Given the description of an element on the screen output the (x, y) to click on. 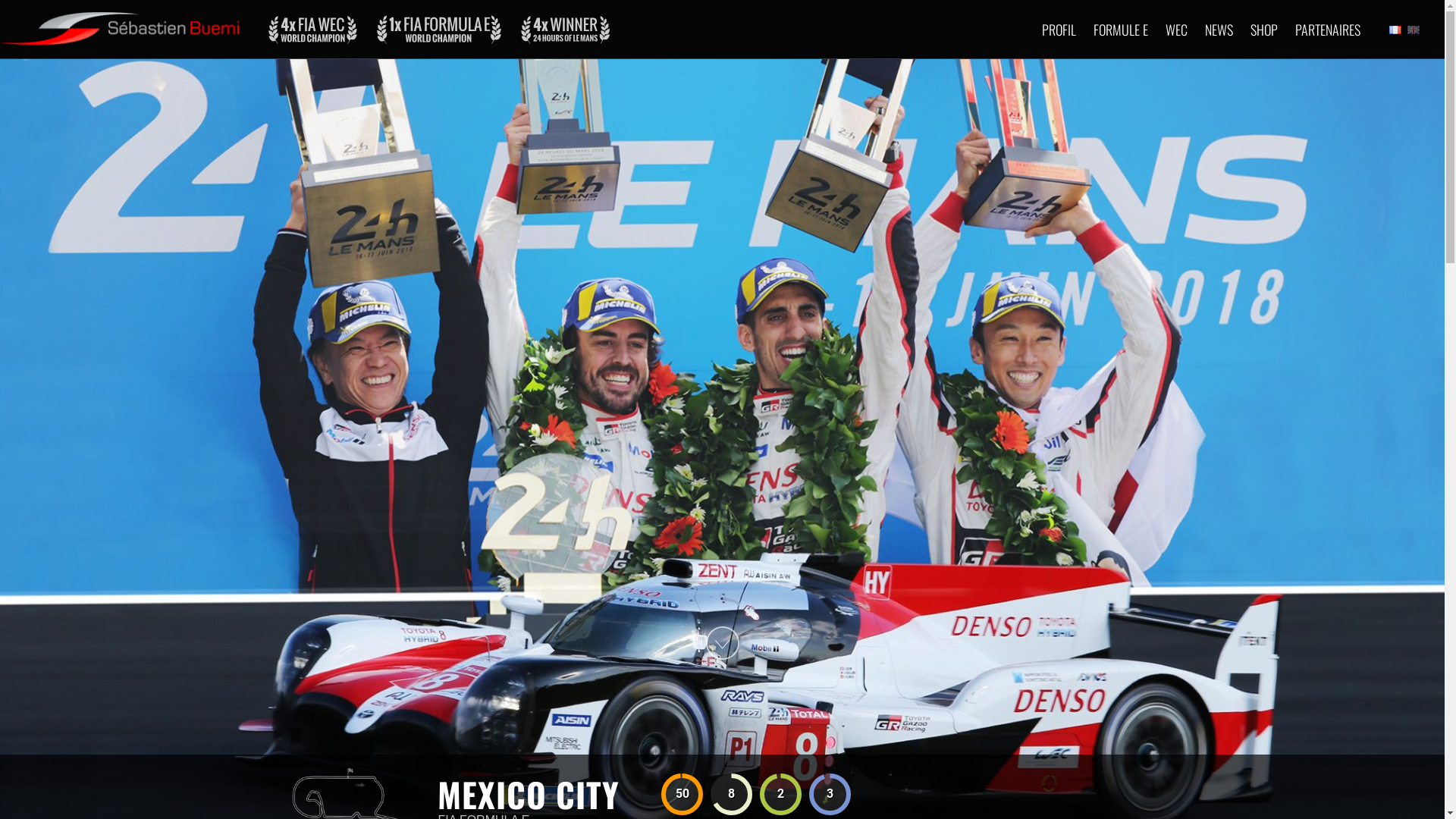
WEC Element type: text (1176, 29)
English Element type: hover (1413, 29)
SHOP Element type: text (1263, 29)
NEWS Element type: text (1218, 29)
FORMULE E Element type: text (1120, 29)
PARTENAIRES Element type: text (1327, 29)
Accueil Element type: hover (119, 22)
PROFIL Element type: text (1058, 29)
